Given the description of an element on the screen output the (x, y) to click on. 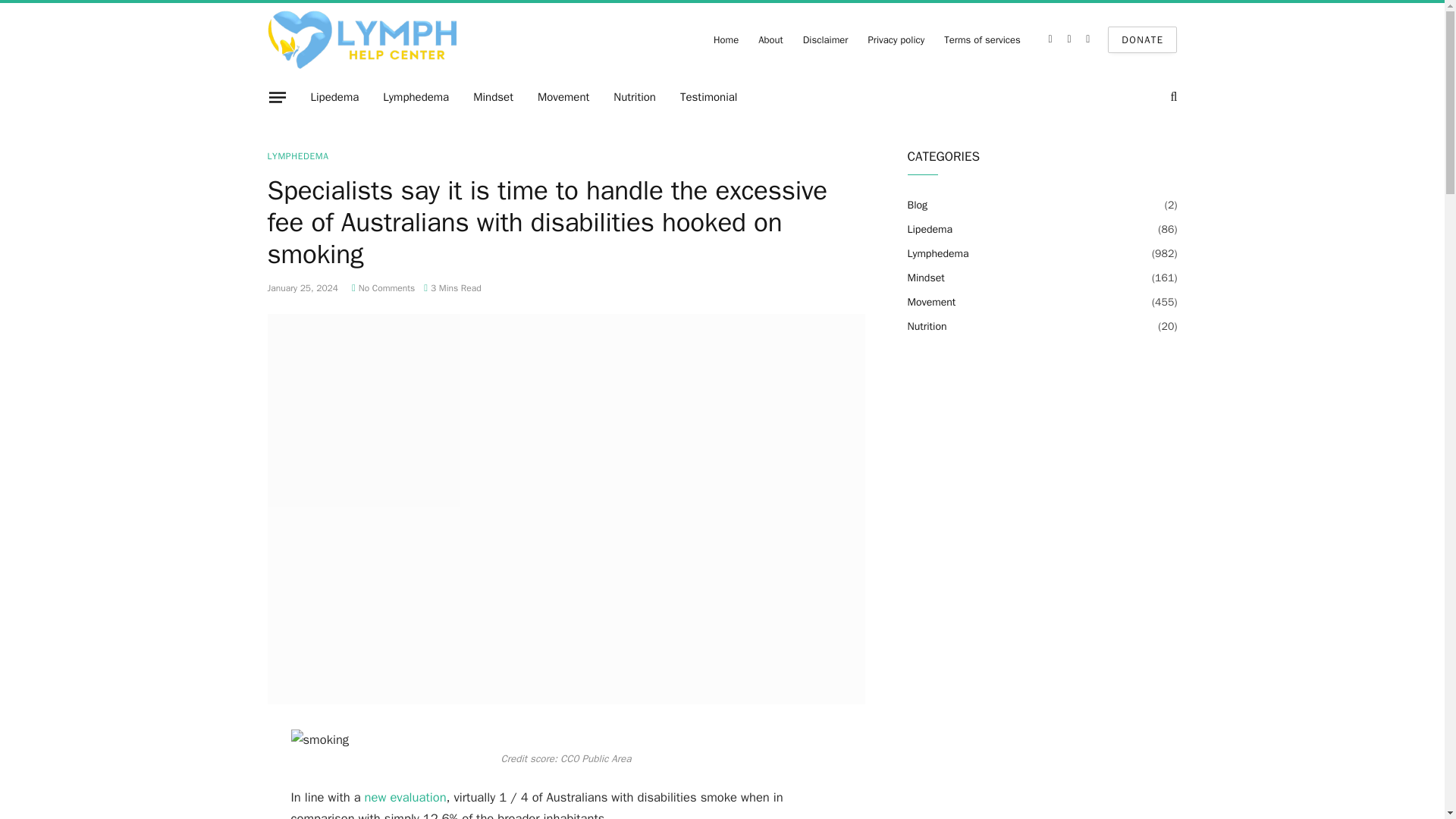
Testimonial (708, 96)
Mindset (493, 96)
Privacy policy (895, 39)
Terms of services (982, 39)
No Comments (383, 287)
Nutrition (634, 96)
LYMPHEDEMA (297, 155)
Lipedema (334, 96)
lymphhelpcenter (361, 39)
